Given the description of an element on the screen output the (x, y) to click on. 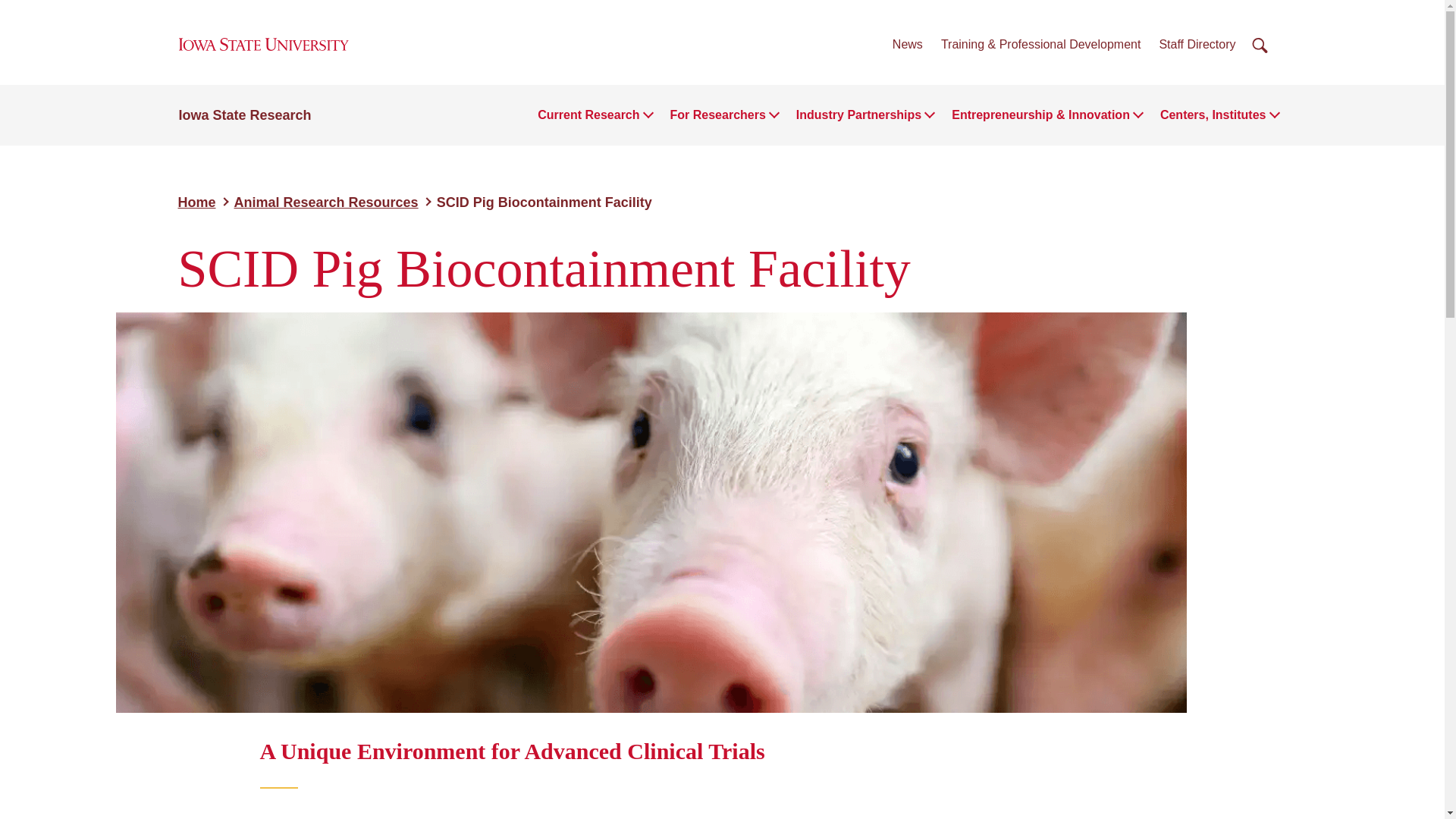
Centers, Institutes (1213, 115)
Current Research (588, 115)
Iowa State Research (245, 114)
Staff Directory (1196, 43)
News (907, 43)
Search (1260, 45)
For Researchers (717, 115)
Industry Partnerships (858, 115)
